Given the description of an element on the screen output the (x, y) to click on. 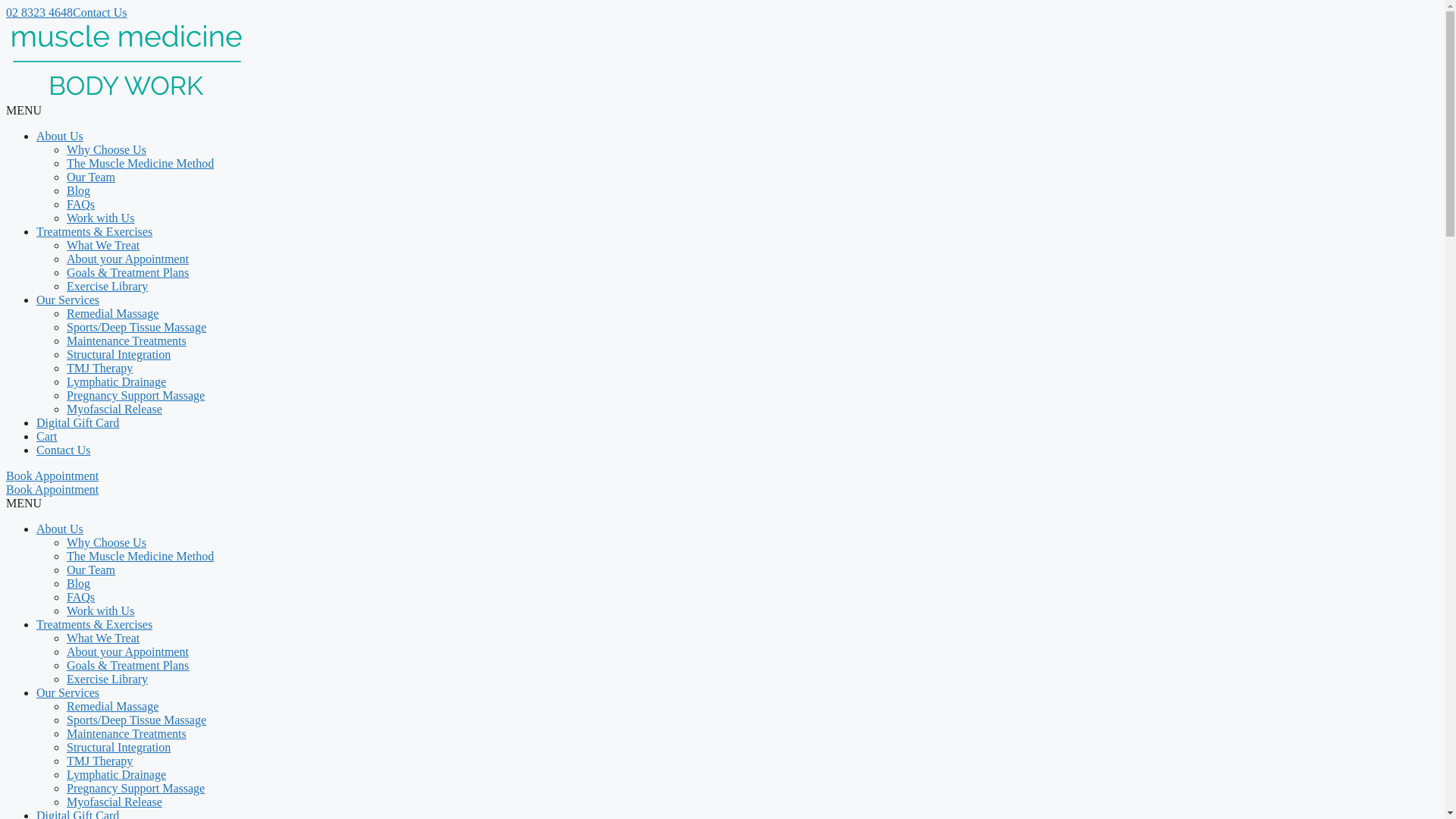
Pregnancy Support Massage Element type: text (135, 395)
Contact Us Element type: text (99, 12)
Goals & Treatment Plans Element type: text (127, 664)
Remedial Massage Element type: text (112, 705)
Work with Us Element type: text (100, 217)
FAQs Element type: text (80, 203)
Maintenance Treatments Element type: text (126, 733)
TMJ Therapy Element type: text (99, 760)
Remedial Massage Element type: text (112, 313)
Our Team Element type: text (90, 176)
Why Choose Us Element type: text (106, 542)
The Muscle Medicine Method Element type: text (139, 162)
The Muscle Medicine Method Element type: text (139, 555)
Exercise Library Element type: text (106, 678)
Treatments & Exercises Element type: text (94, 624)
Myofascial Release Element type: text (114, 801)
Our Services Element type: text (67, 692)
Why Choose Us Element type: text (106, 149)
Cart Element type: text (46, 435)
Goals & Treatment Plans Element type: text (127, 272)
02 8323 4648 Element type: text (39, 12)
FAQs Element type: text (80, 596)
Sports/Deep Tissue Massage Element type: text (136, 719)
Lymphatic Drainage Element type: text (116, 381)
Contact Us Element type: text (63, 449)
Digital Gift Card Element type: text (77, 422)
Blog Element type: text (78, 190)
What We Treat Element type: text (102, 637)
About Us Element type: text (59, 135)
Structural Integration Element type: text (118, 746)
Book Appointment Element type: text (52, 475)
Our Services Element type: text (67, 299)
Blog Element type: text (78, 583)
Maintenance Treatments Element type: text (126, 340)
Structural Integration Element type: text (118, 354)
Treatments & Exercises Element type: text (94, 231)
About your Appointment Element type: text (127, 258)
What We Treat Element type: text (102, 244)
About Us Element type: text (59, 528)
Pregnancy Support Massage Element type: text (135, 787)
Lymphatic Drainage Element type: text (116, 774)
Book Appointment Element type: text (52, 489)
About your Appointment Element type: text (127, 651)
Our Team Element type: text (90, 569)
Myofascial Release Element type: text (114, 408)
Sports/Deep Tissue Massage Element type: text (136, 326)
Home Element type: hover (126, 96)
Work with Us Element type: text (100, 610)
Exercise Library Element type: text (106, 285)
TMJ Therapy Element type: text (99, 367)
